Given the description of an element on the screen output the (x, y) to click on. 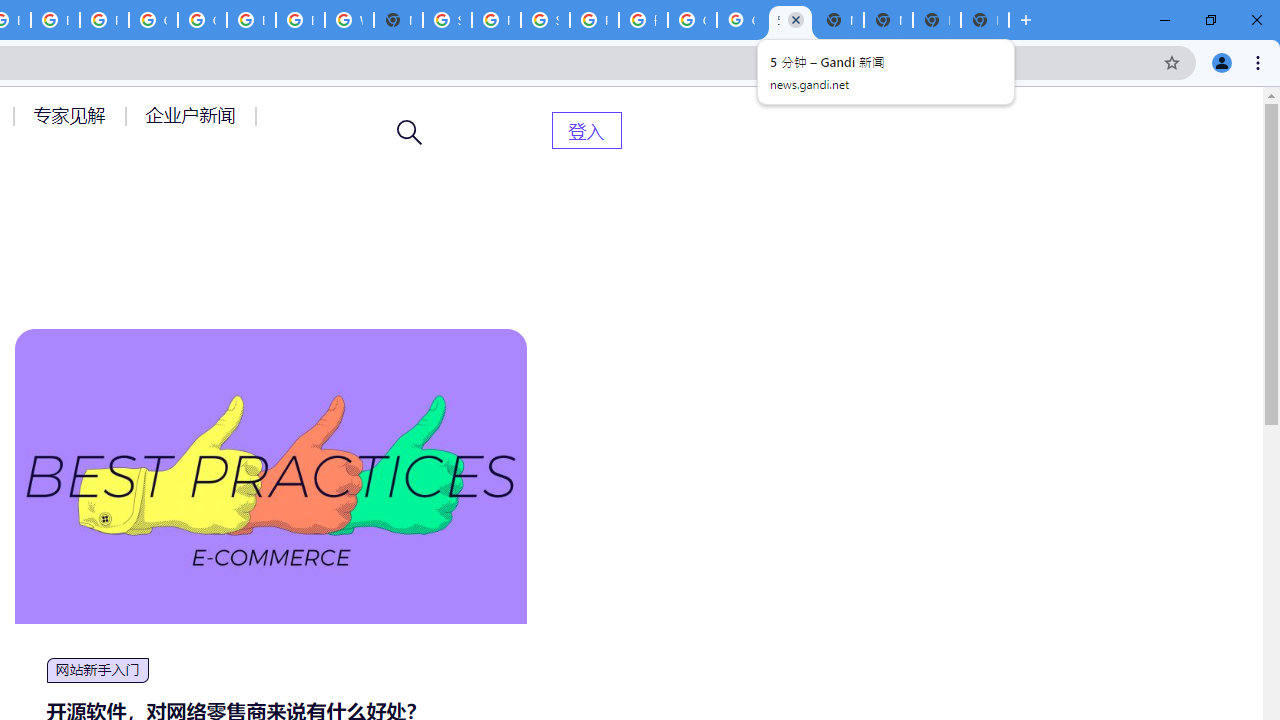
Google Cloud Platform (201, 20)
AutomationID: menu-item-77765 (194, 115)
